Given the description of an element on the screen output the (x, y) to click on. 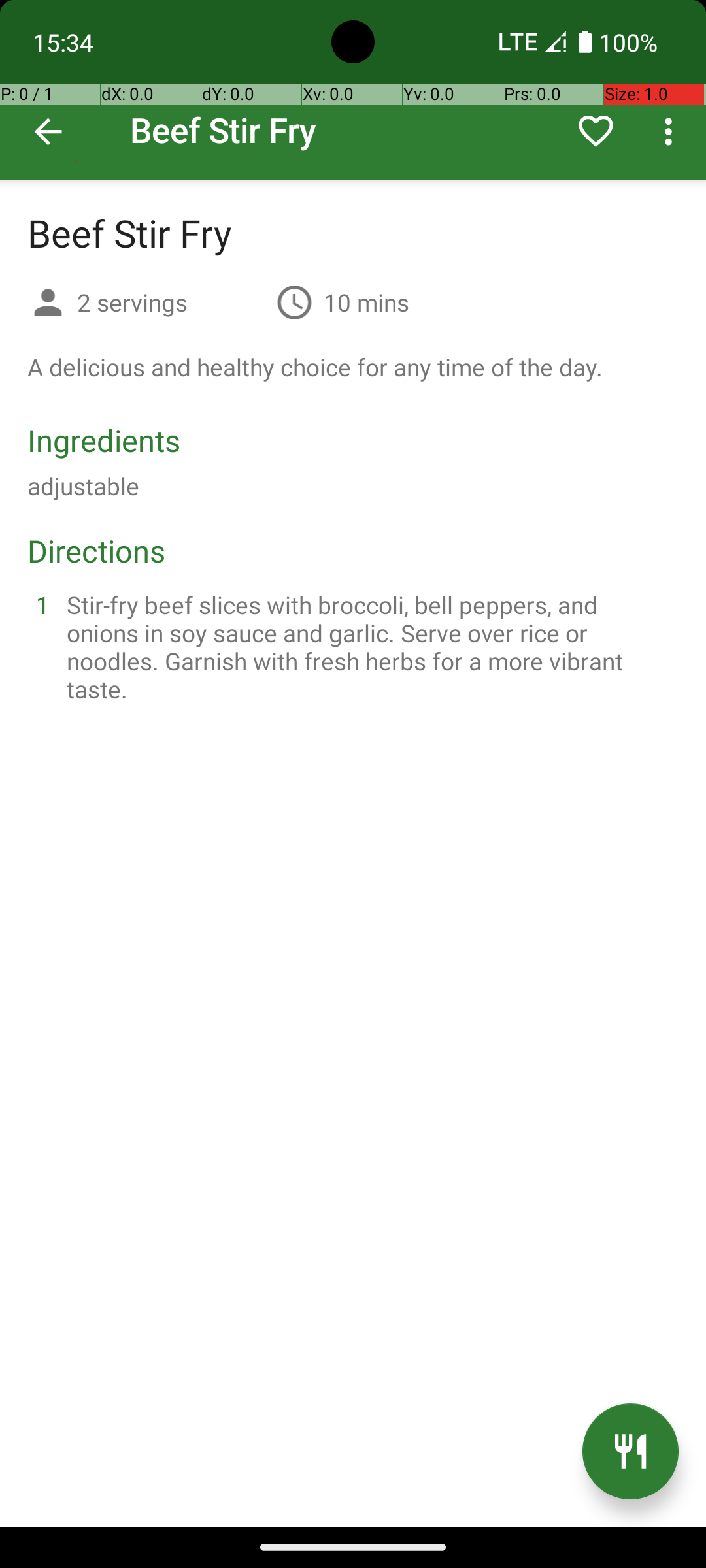
Stir-fry beef slices with broccoli, bell peppers, and onions in soy sauce and garlic. Serve over rice or noodles. Garnish with fresh herbs for a more vibrant taste. Element type: android.widget.TextView (368, 646)
